Given the description of an element on the screen output the (x, y) to click on. 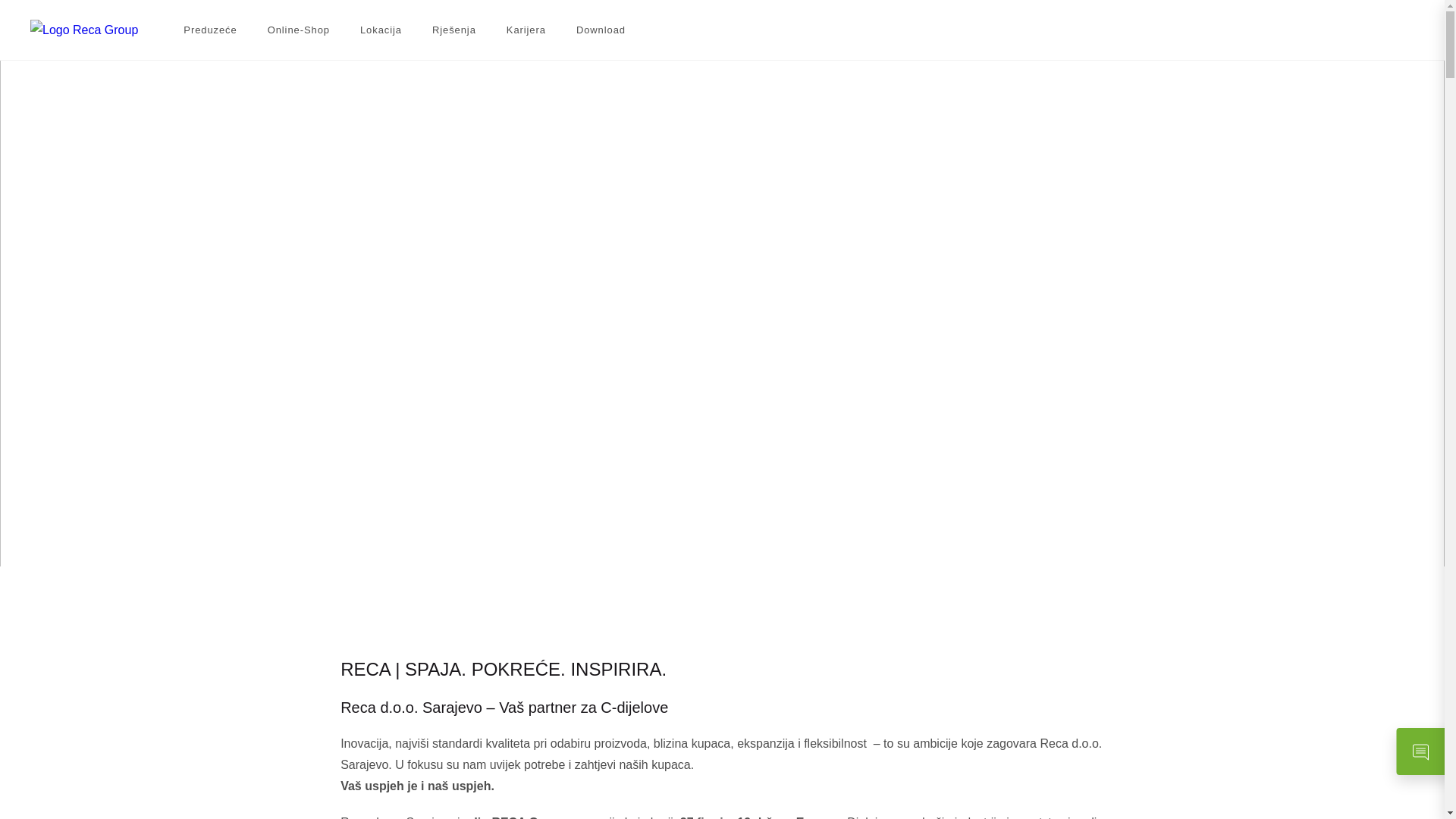
Karijera Element type: text (526, 30)
Online-Shop Element type: text (298, 30)
Lokacija Element type: text (380, 30)
Download Element type: text (600, 30)
